Given the description of an element on the screen output the (x, y) to click on. 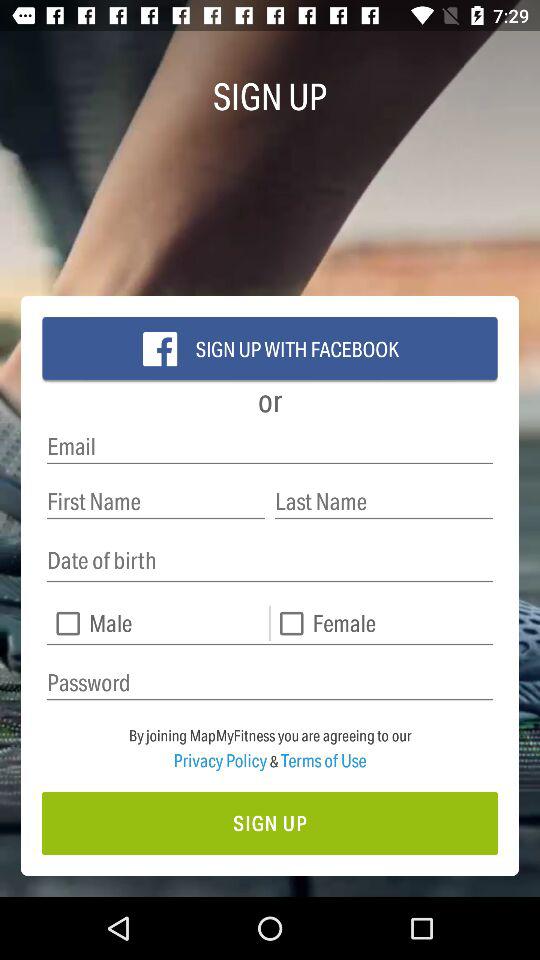
enter your password (270, 682)
